Given the description of an element on the screen output the (x, y) to click on. 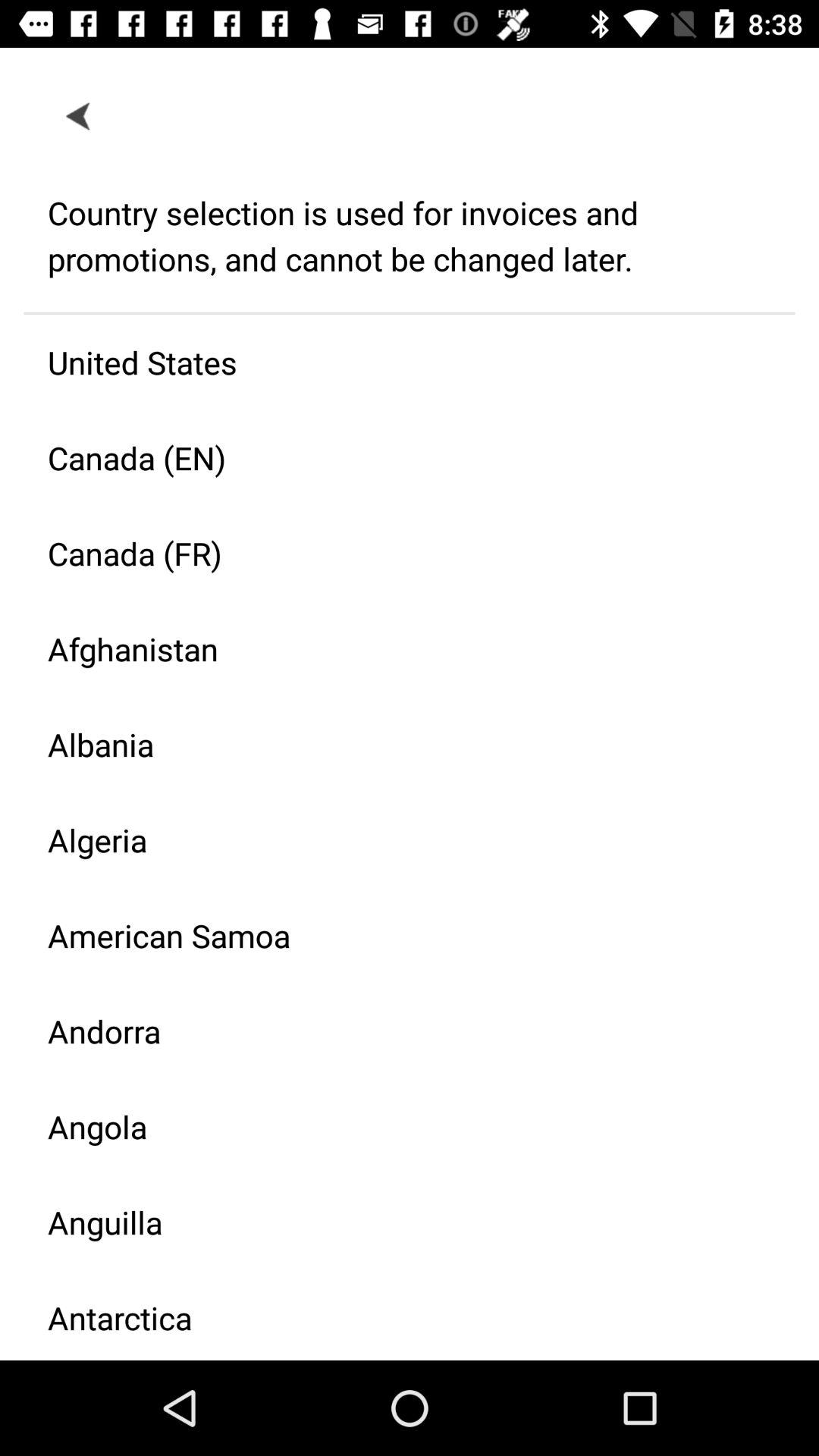
open item below the albania icon (397, 839)
